Given the description of an element on the screen output the (x, y) to click on. 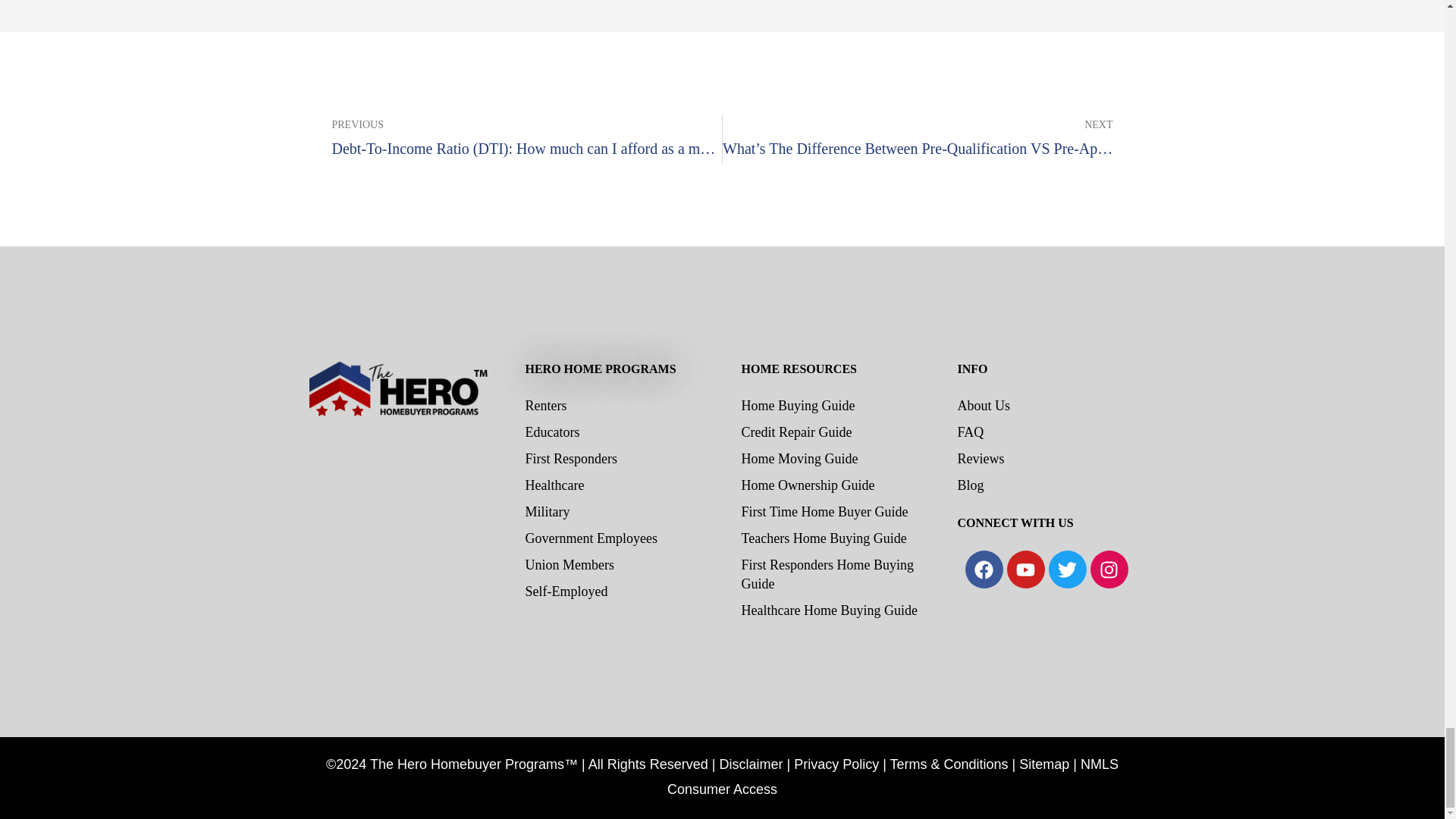
logo-removebg-preview (397, 469)
